Given the description of an element on the screen output the (x, y) to click on. 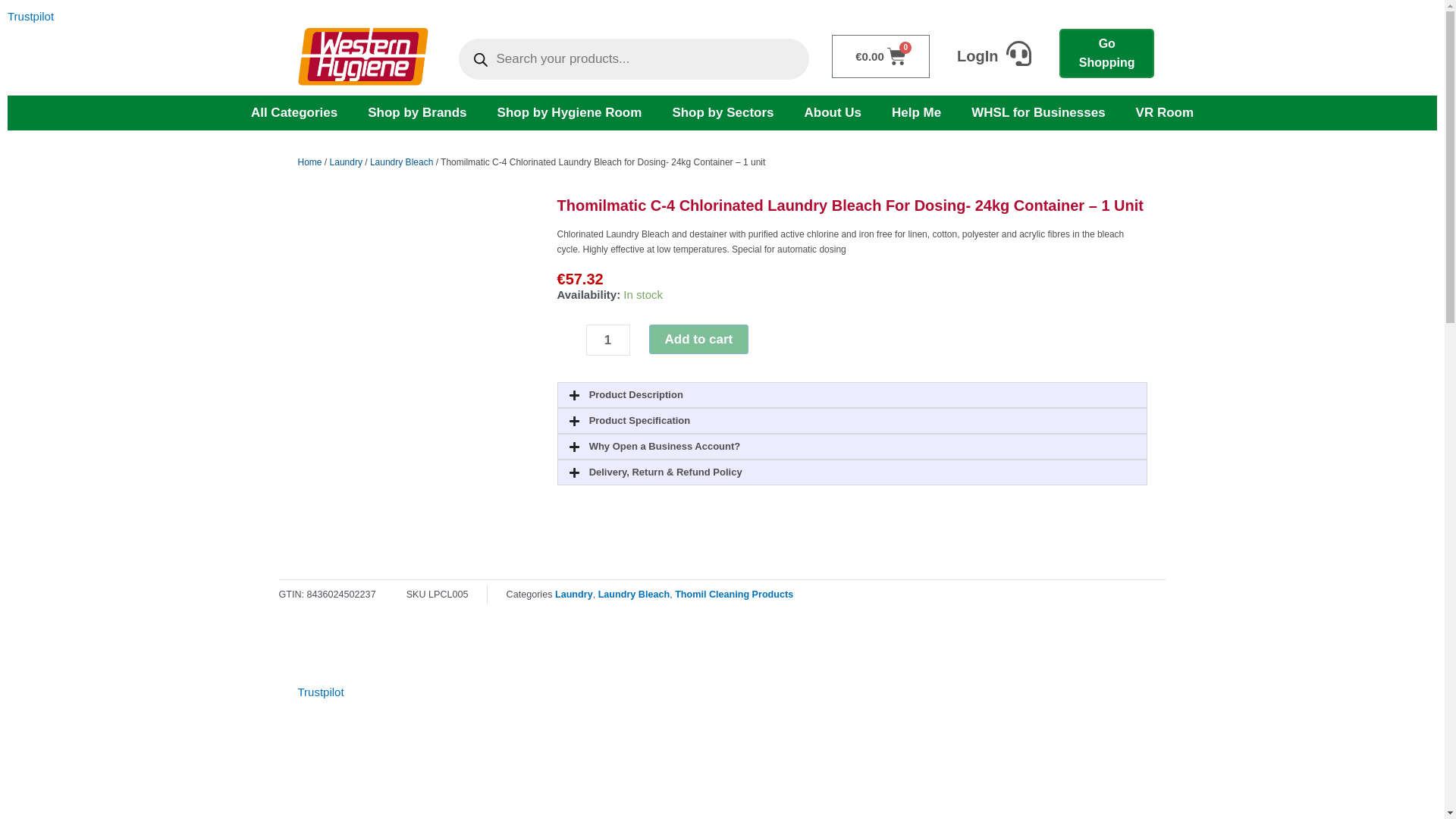
Go Shopping (1106, 53)
Trustpilot (30, 15)
Qty (606, 339)
LogIn (976, 55)
All Categories (293, 112)
1 (606, 339)
